Given the description of an element on the screen output the (x, y) to click on. 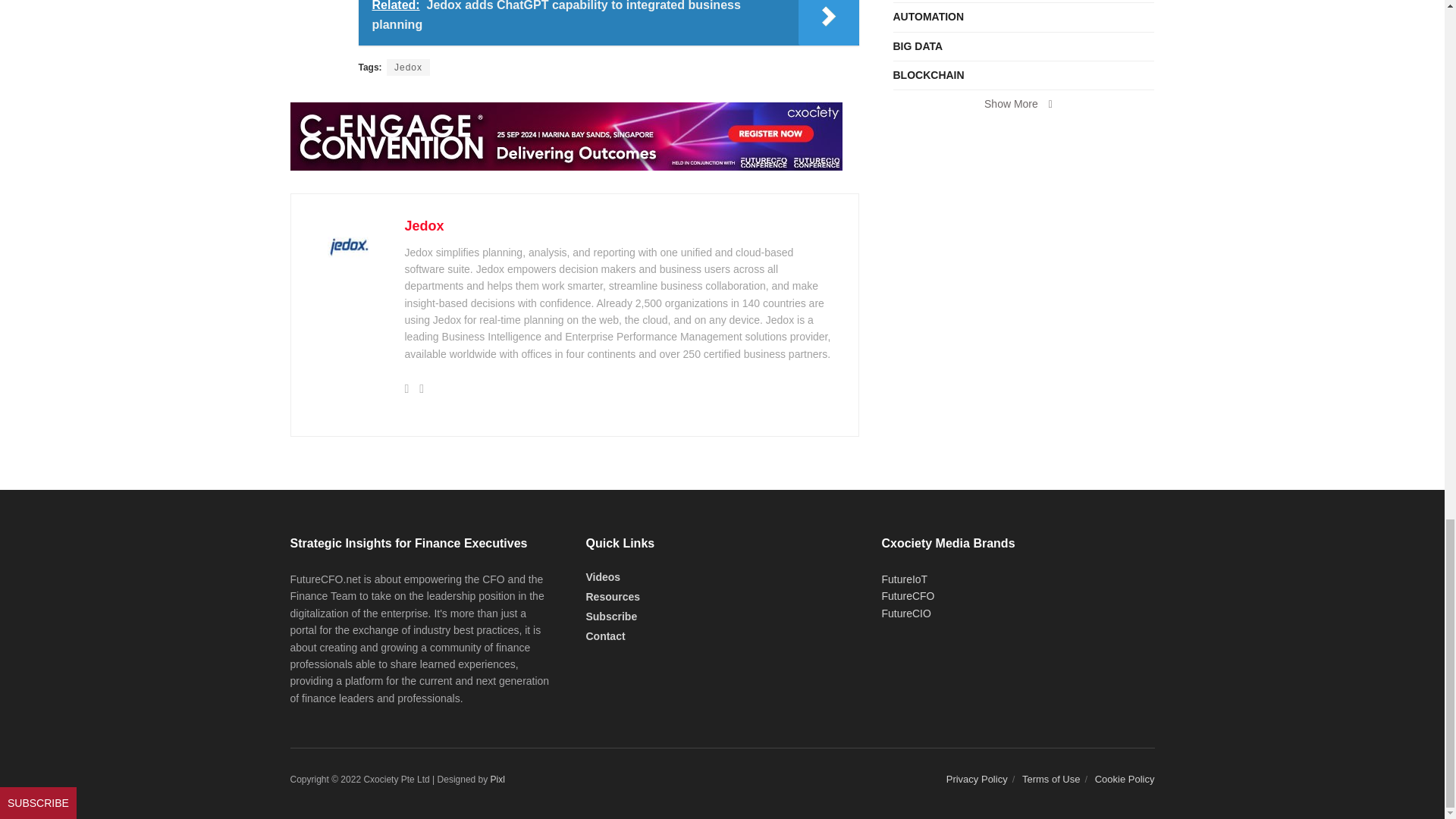
Pixl (497, 778)
